Given the description of an element on the screen output the (x, y) to click on. 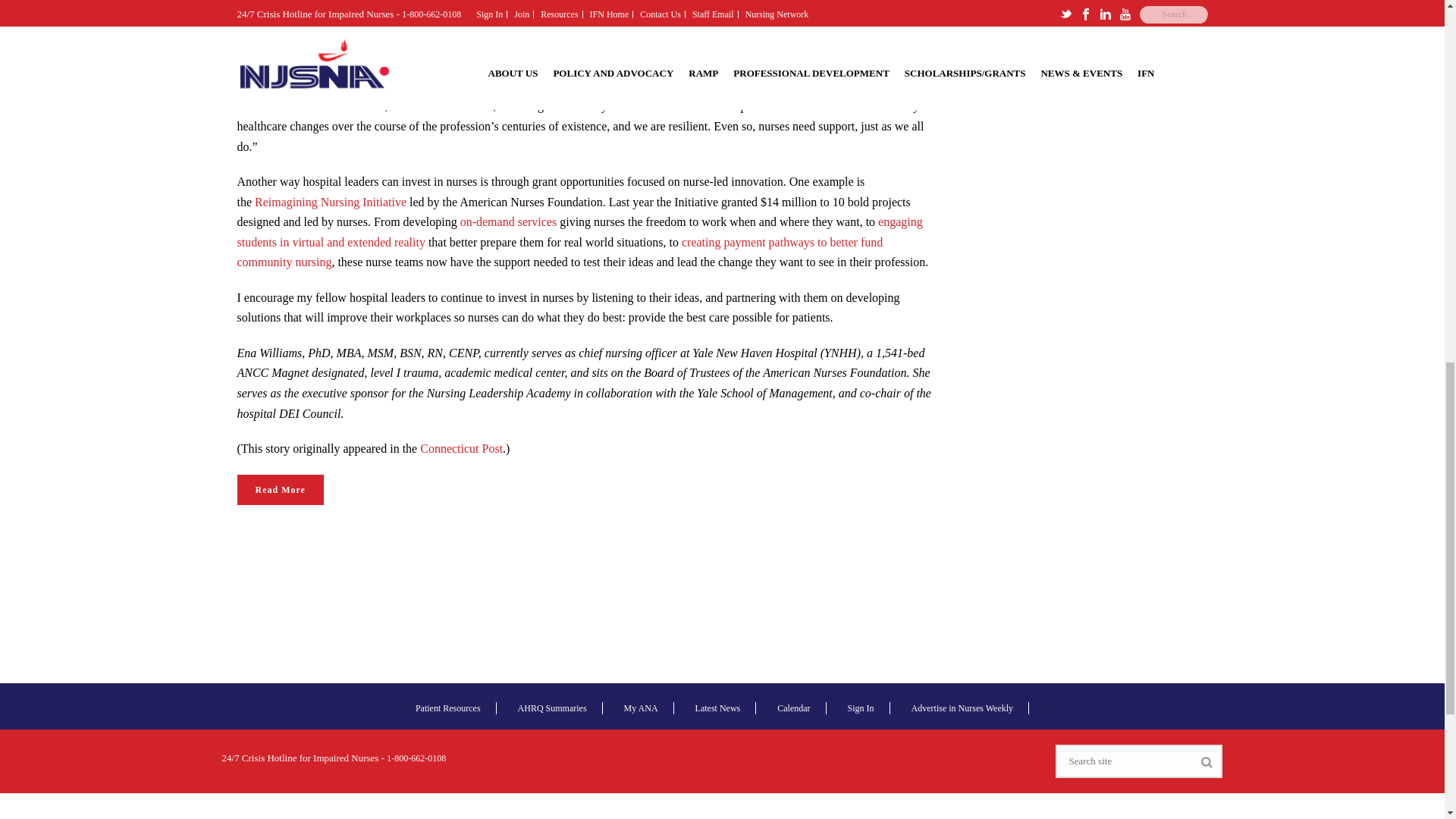
Read More (279, 490)
